Given the description of an element on the screen output the (x, y) to click on. 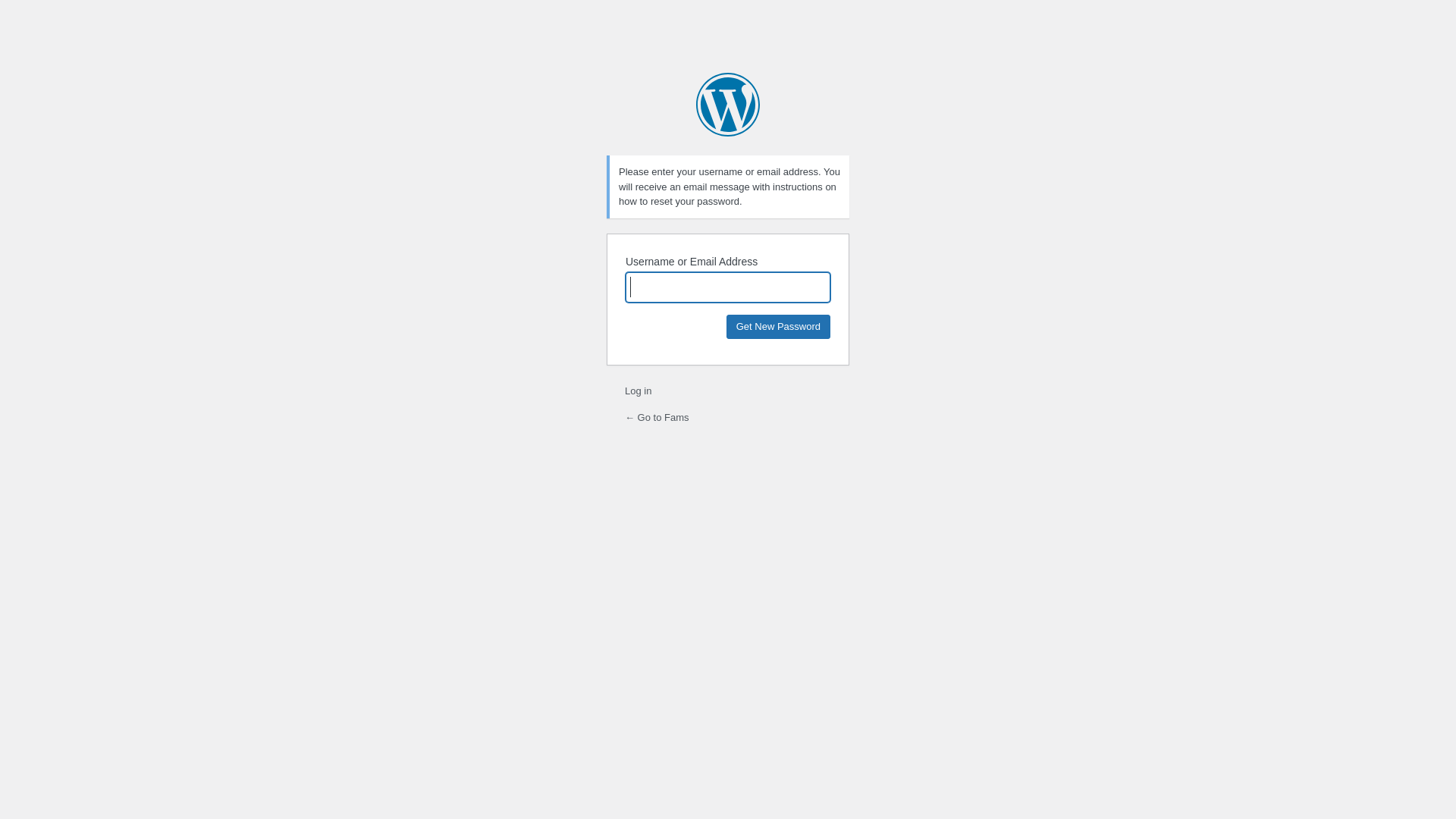
Get New Password Element type: text (778, 325)
Powered by WordPress Element type: text (727, 104)
Log in Element type: text (637, 390)
